Given the description of an element on the screen output the (x, y) to click on. 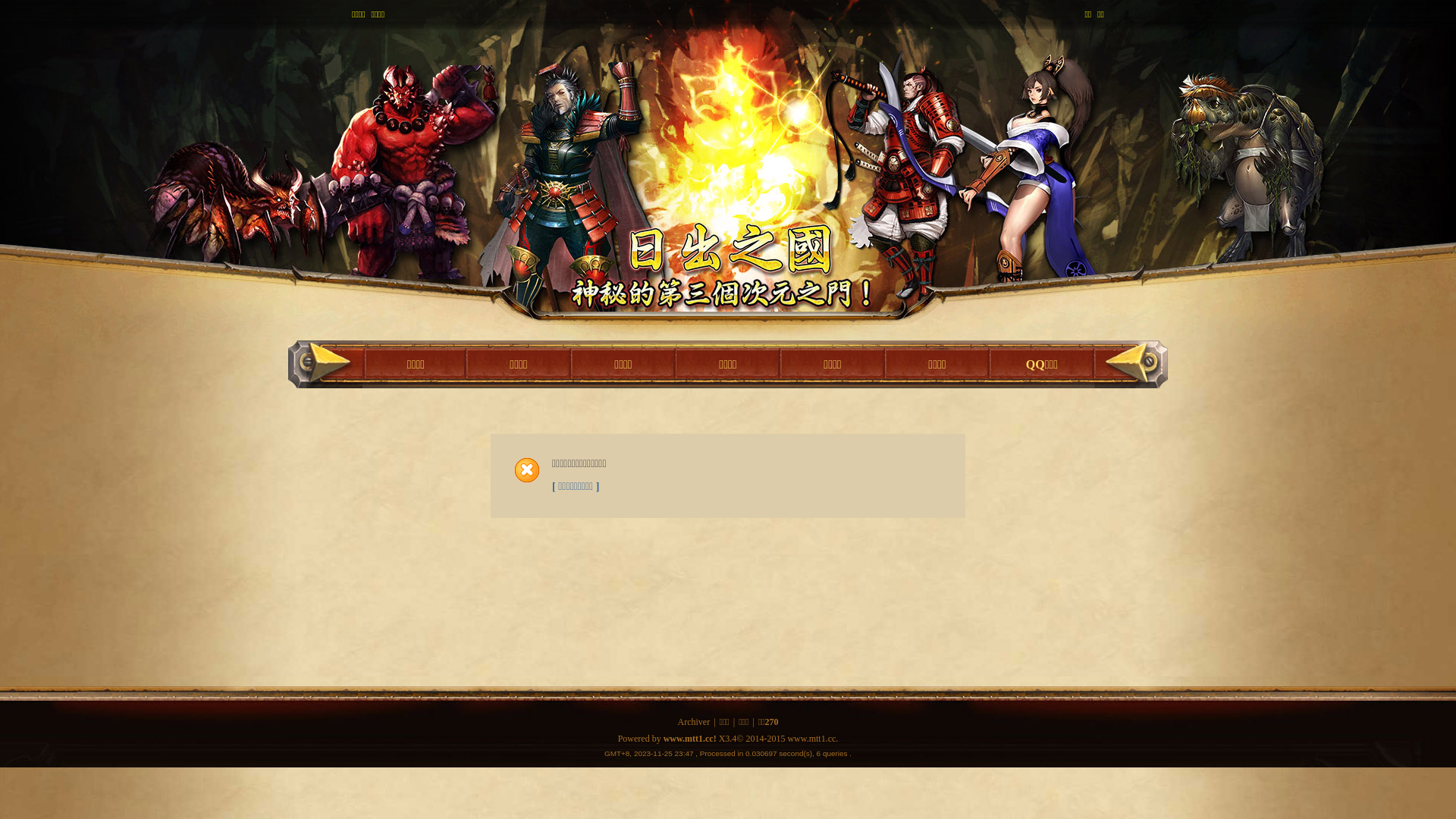
Archiver Element type: text (693, 721)
www.mtt1.cc! Element type: text (689, 738)
www.mtt1.cc. Element type: text (812, 738)
